Given the description of an element on the screen output the (x, y) to click on. 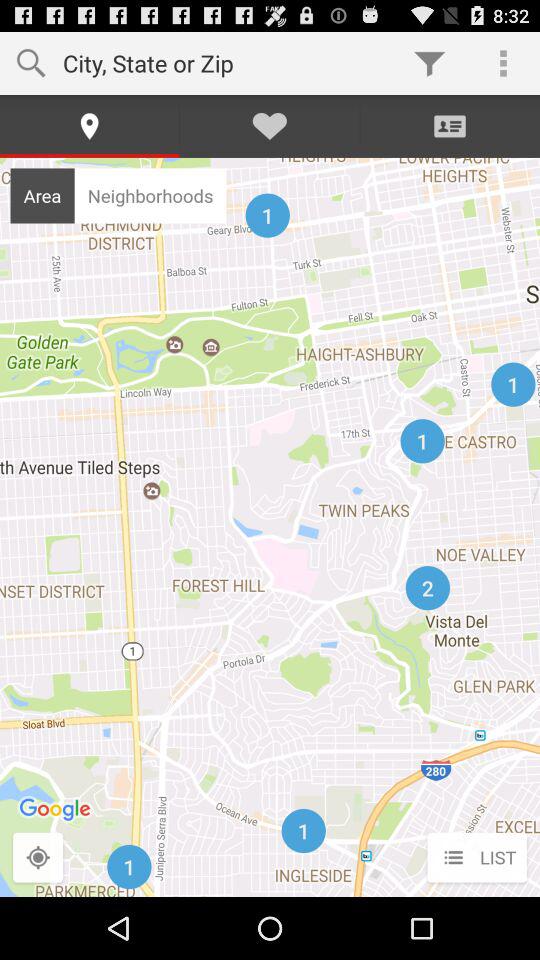
launch icon at the center (270, 526)
